Given the description of an element on the screen output the (x, y) to click on. 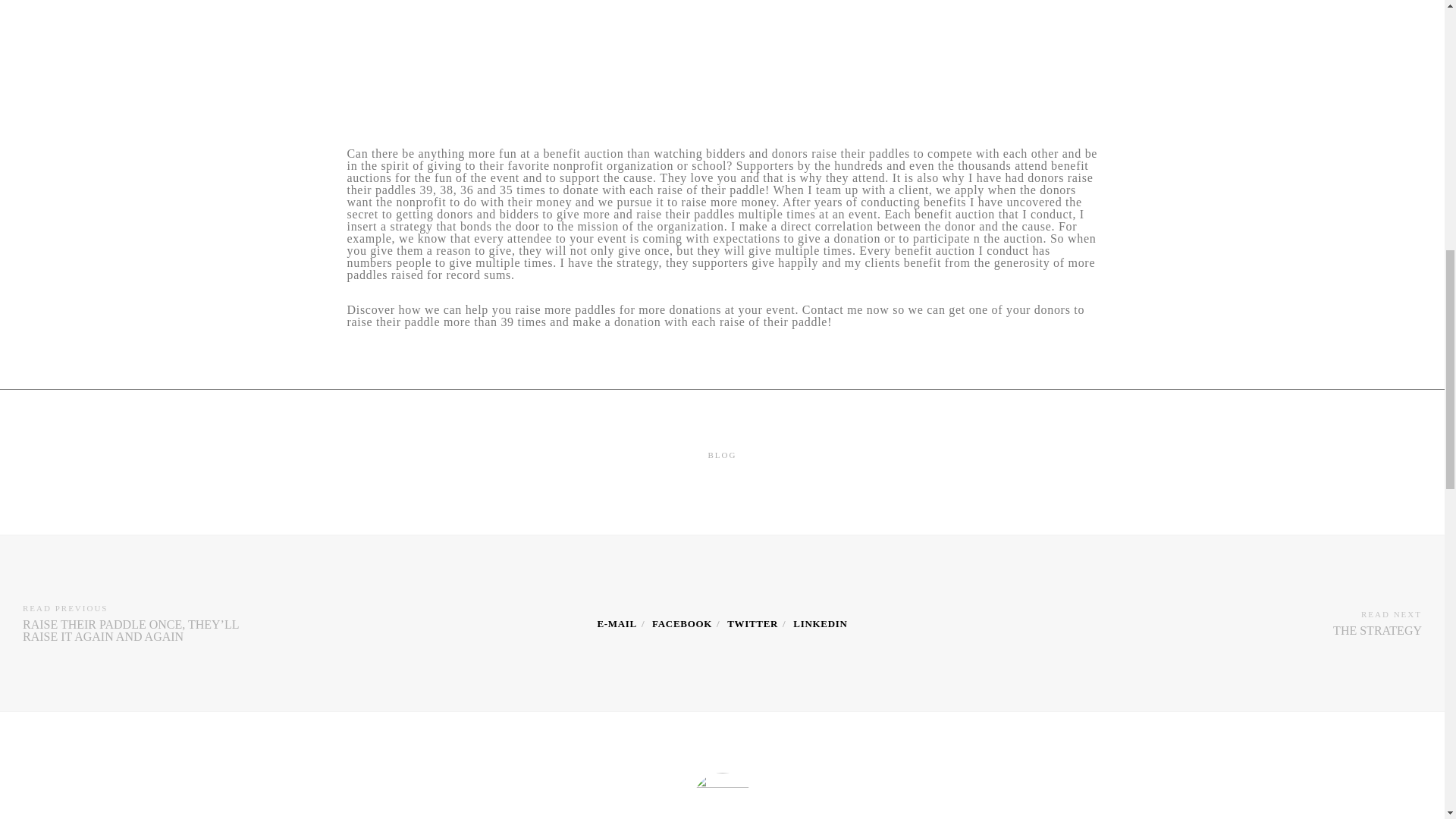
LINKEDIN (820, 623)
TWITTER (751, 623)
39, 38, 36 And 35 (681, 623)
39, 38, 36 And 35 (751, 623)
BLOG (721, 454)
39, 38, 36 And 35 (616, 623)
E-MAIL (616, 623)
39, 38, 36 And 35 (820, 623)
FACEBOOK (681, 623)
